Given the description of an element on the screen output the (x, y) to click on. 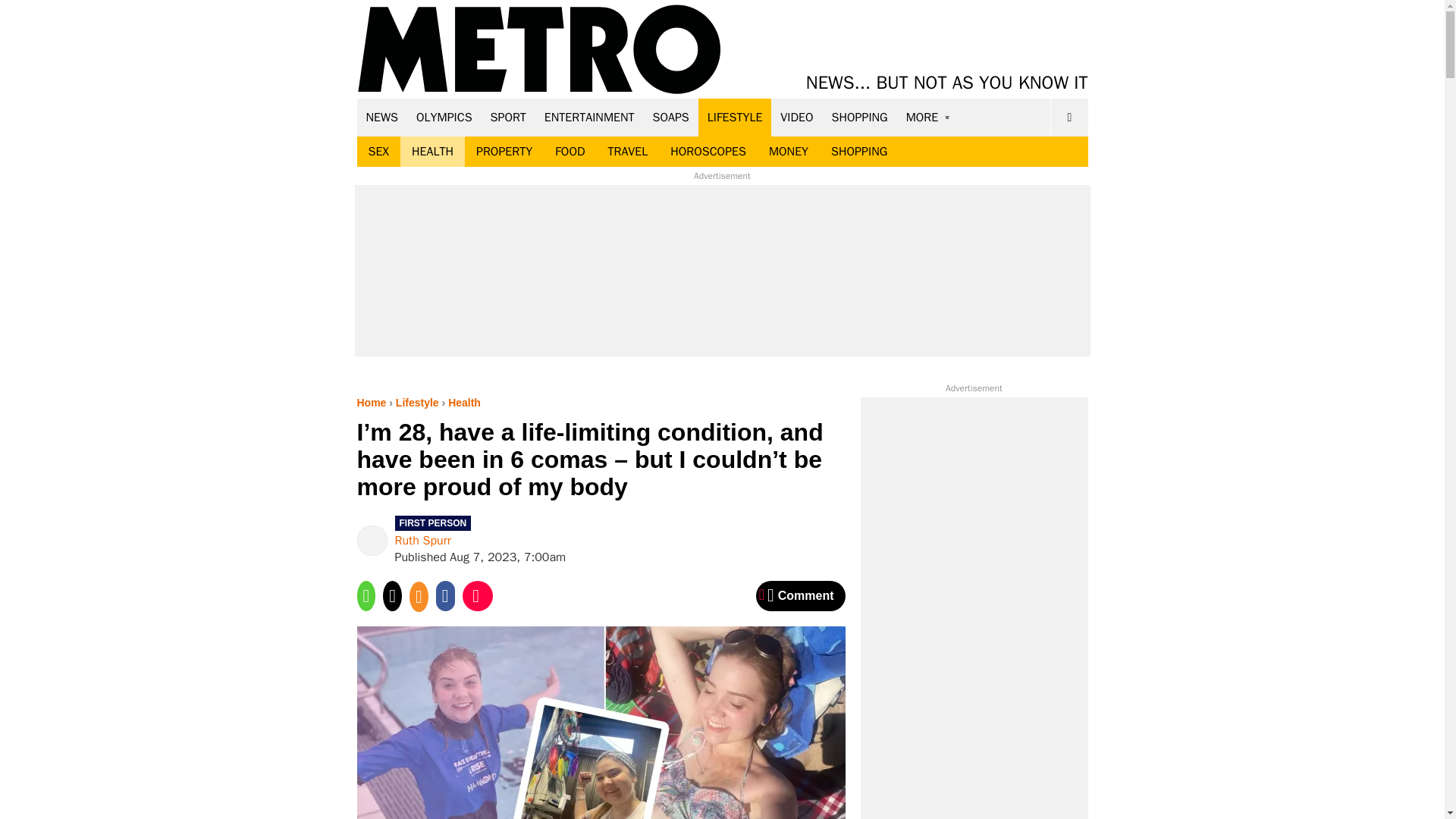
SPORT (508, 117)
SEX (377, 151)
HEALTH (432, 151)
LIFESTYLE (734, 117)
ENTERTAINMENT (589, 117)
NEWS (381, 117)
FOOD (569, 151)
PROPERTY (503, 151)
OLYMPICS (444, 117)
Metro (539, 50)
SOAPS (670, 117)
